Given the description of an element on the screen output the (x, y) to click on. 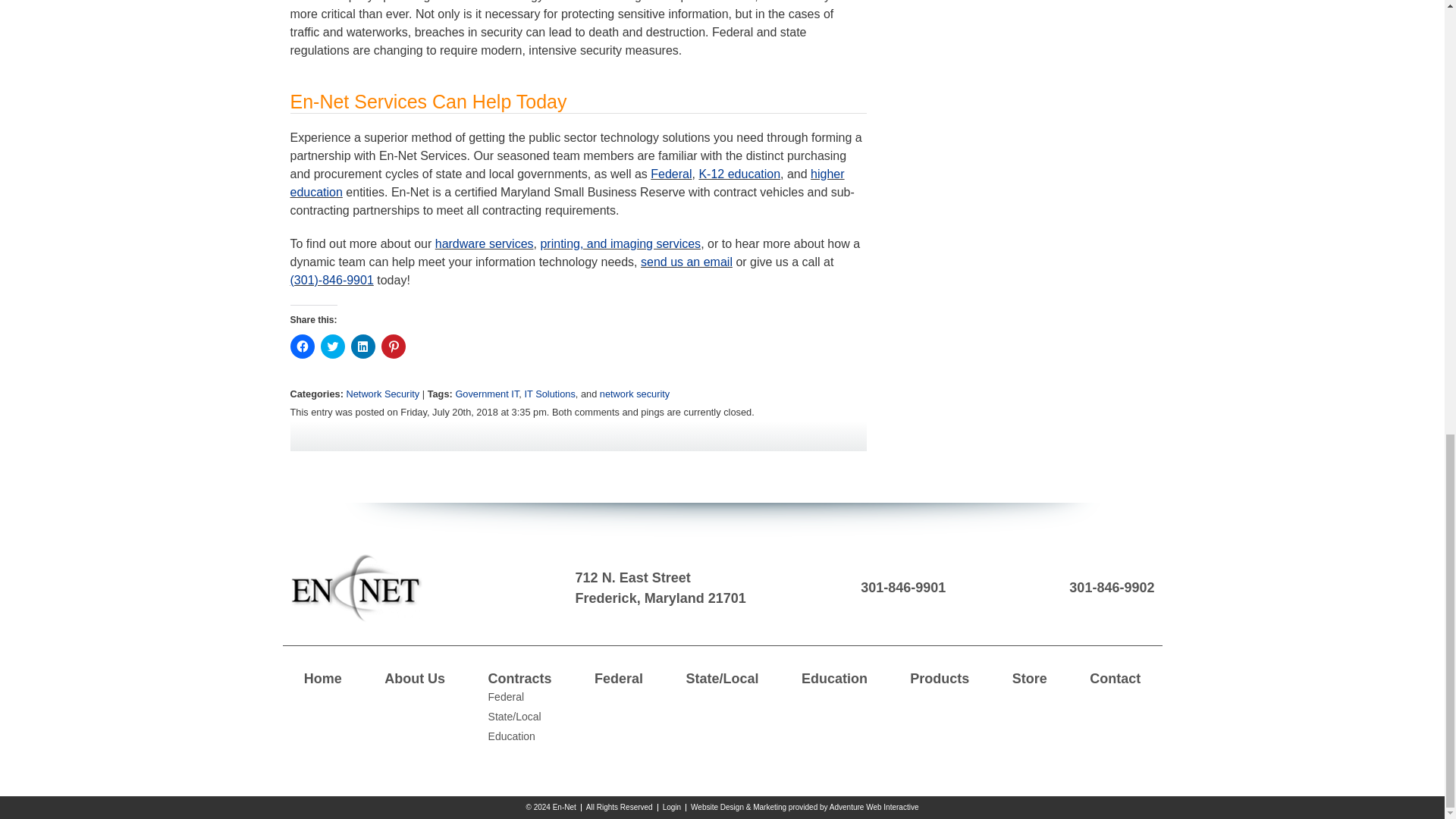
En-Net (355, 588)
Click to share on Twitter (331, 346)
Click to share on Facebook (301, 346)
Click to share on LinkedIn (362, 346)
Click to share on Pinterest (392, 346)
